Given the description of an element on the screen output the (x, y) to click on. 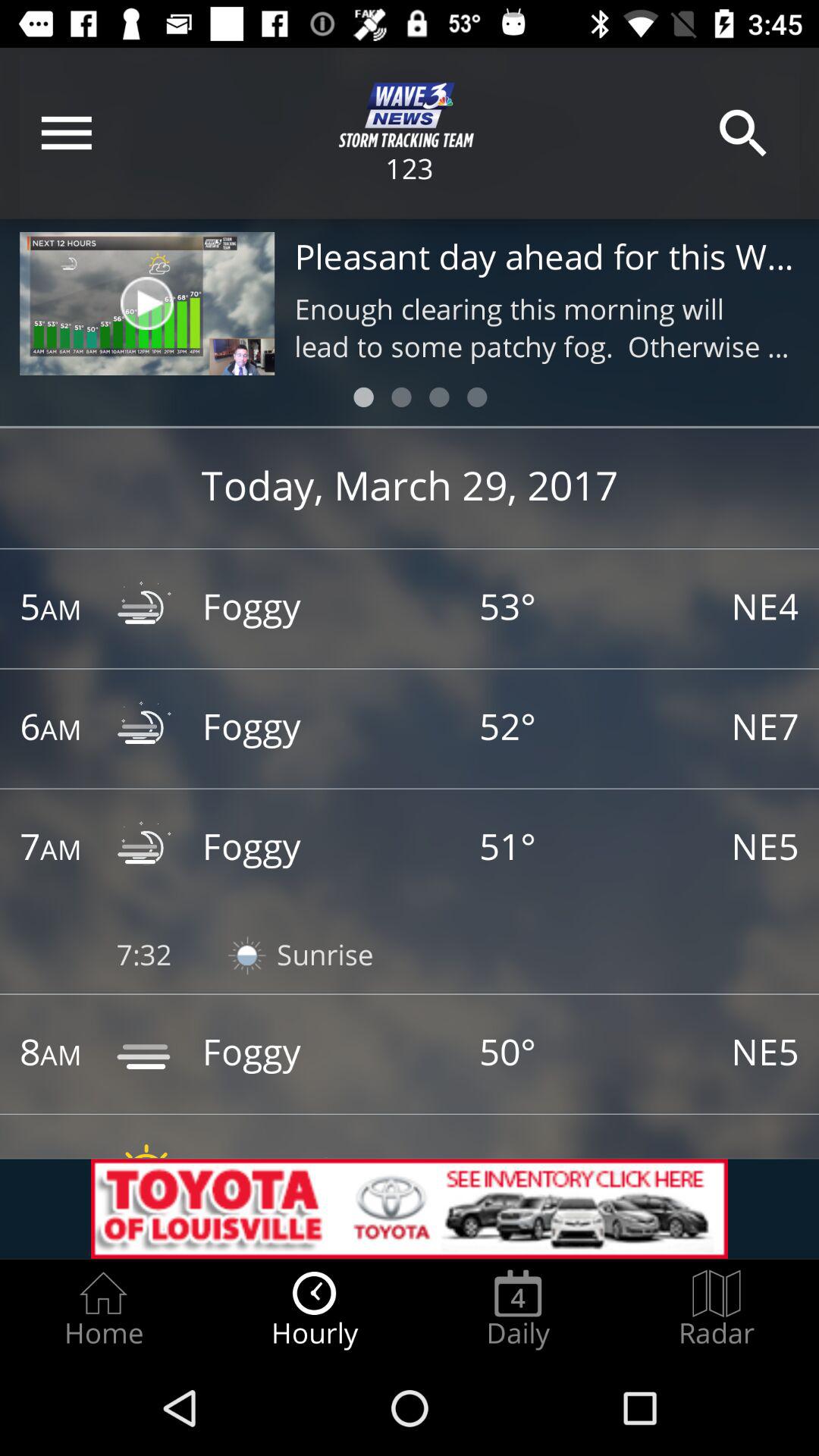
flip until the radar radio button (716, 1309)
